Given the description of an element on the screen output the (x, y) to click on. 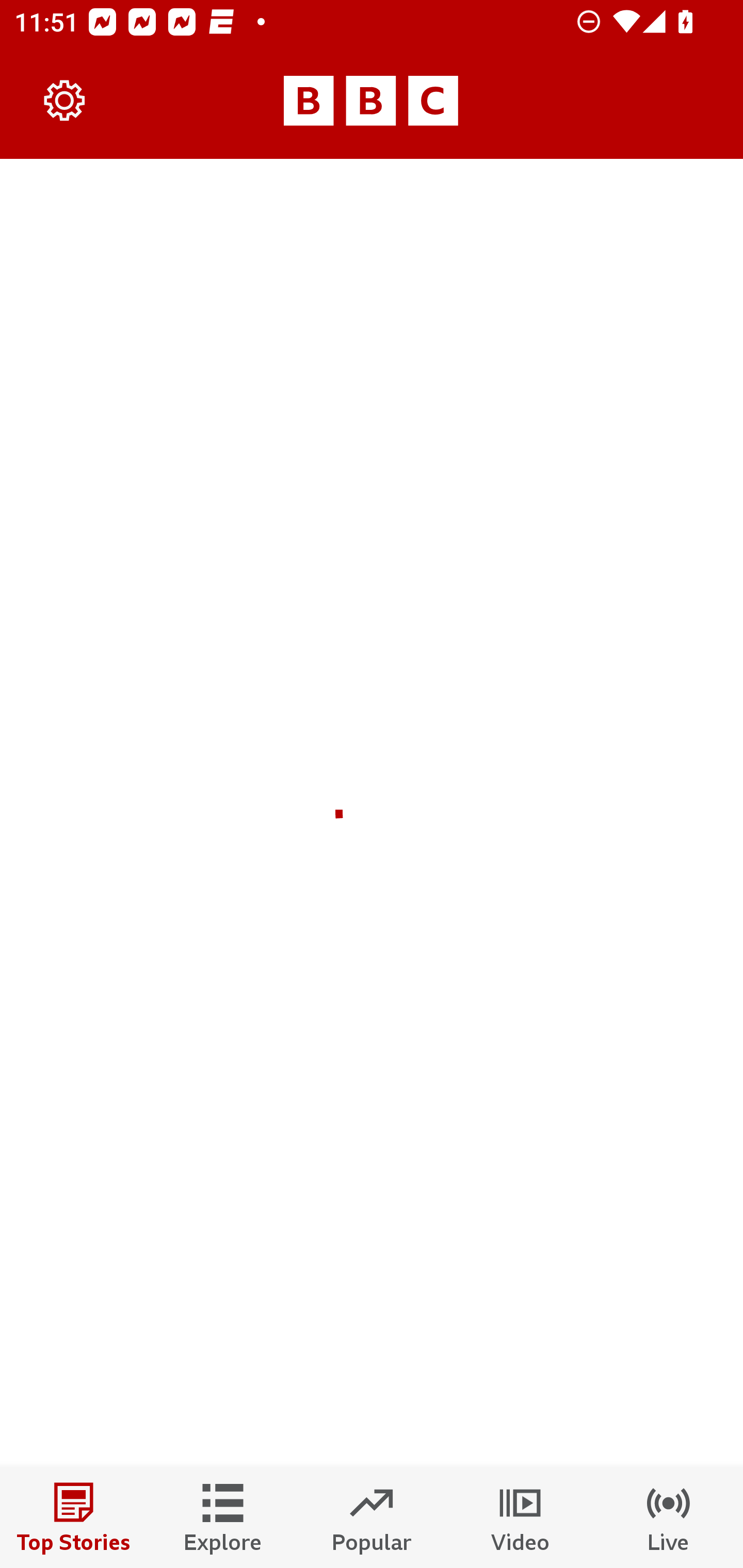
Settings (64, 100)
Explore (222, 1517)
Popular (371, 1517)
Video (519, 1517)
Live (668, 1517)
